Given the description of an element on the screen output the (x, y) to click on. 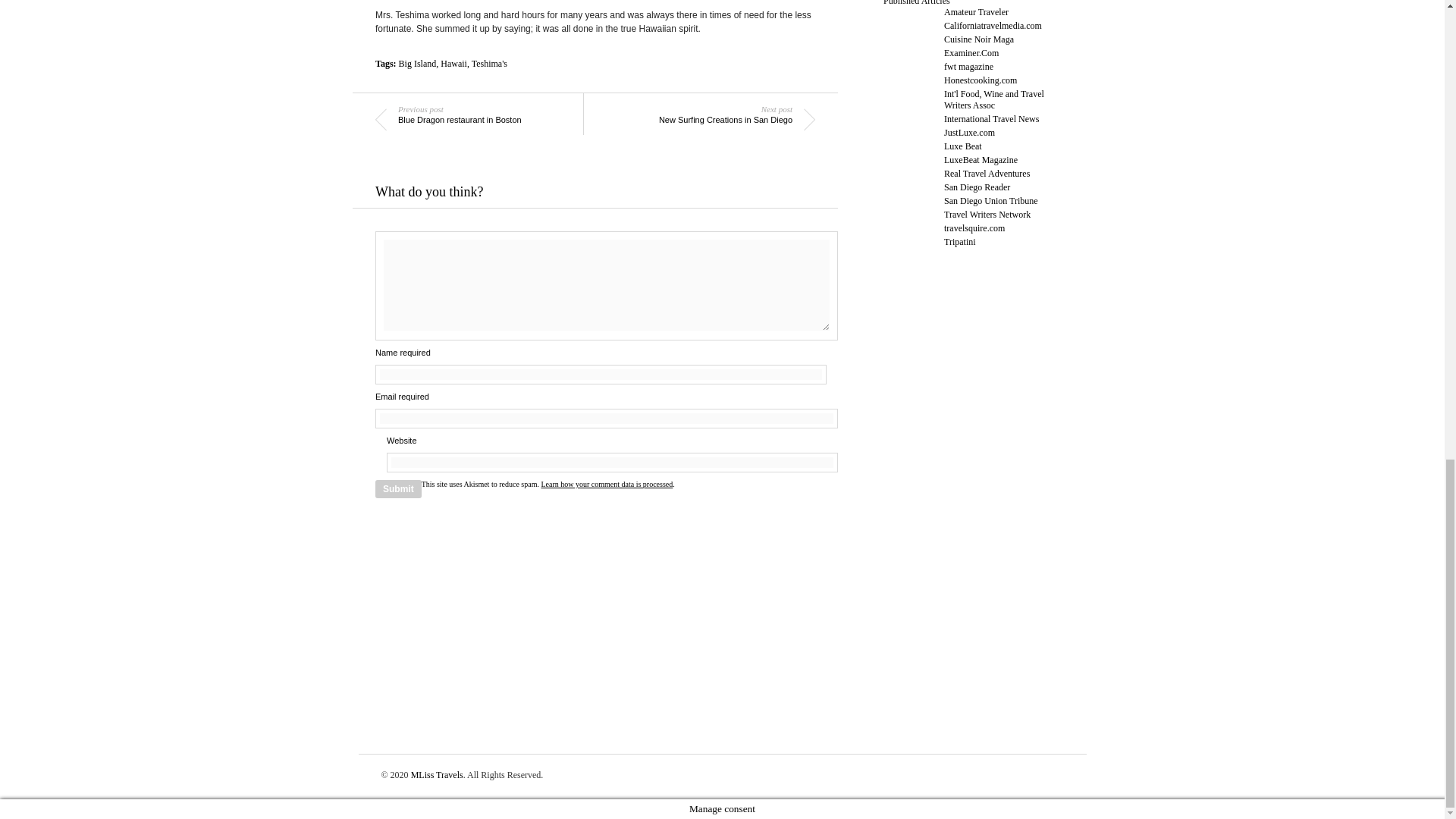
Submit (398, 488)
Hawaii (454, 63)
Big Island (417, 63)
Submit (398, 488)
Learn how your comment data is processed (720, 119)
Kealakekua, HI (606, 483)
